Given the description of an element on the screen output the (x, y) to click on. 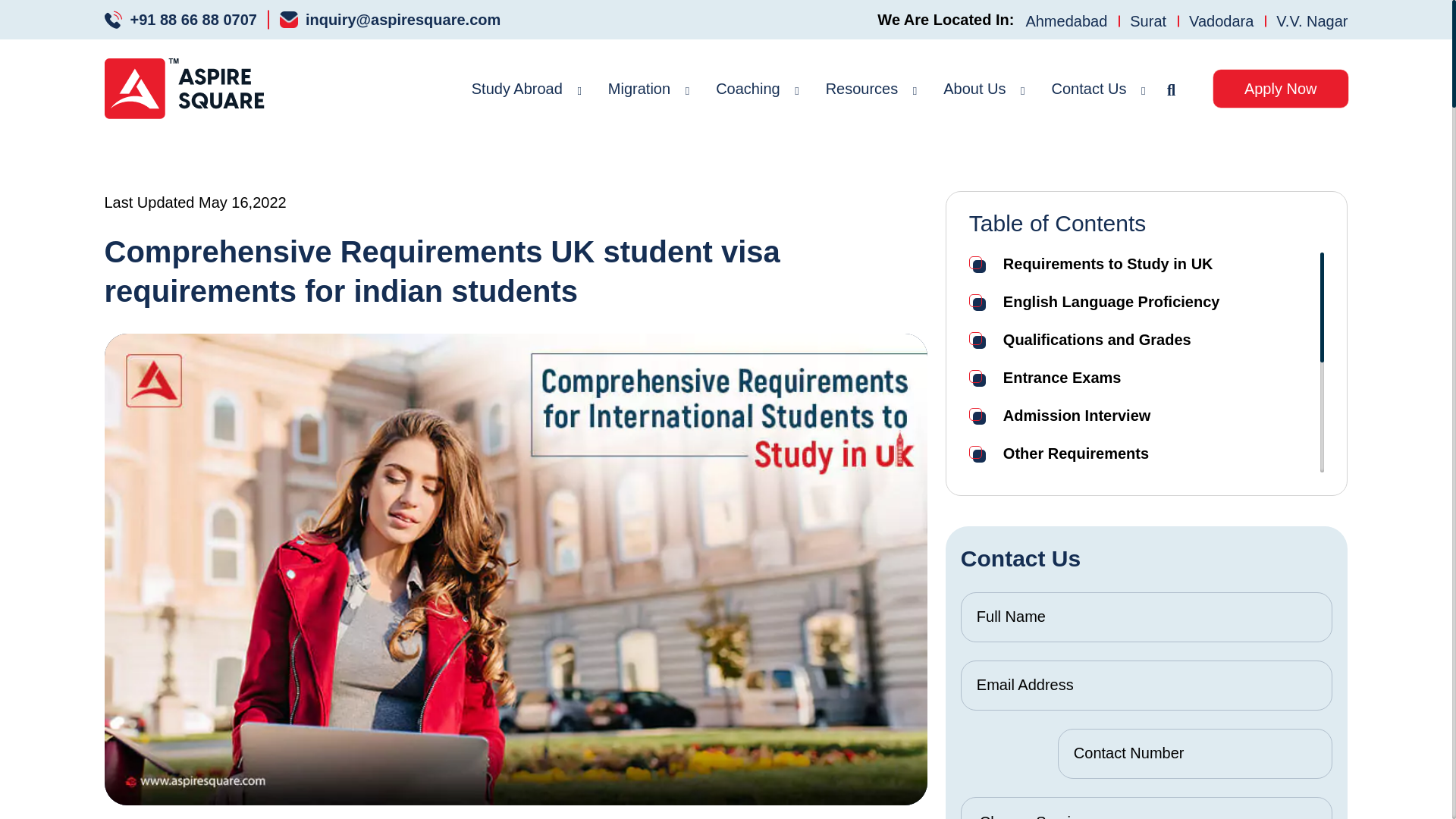
Surat (1147, 20)
Study Abroad (516, 88)
Vadodara (1221, 20)
V.V. Nagar (1306, 20)
Migration (638, 88)
Ahmedabad (1065, 20)
